Given the description of an element on the screen output the (x, y) to click on. 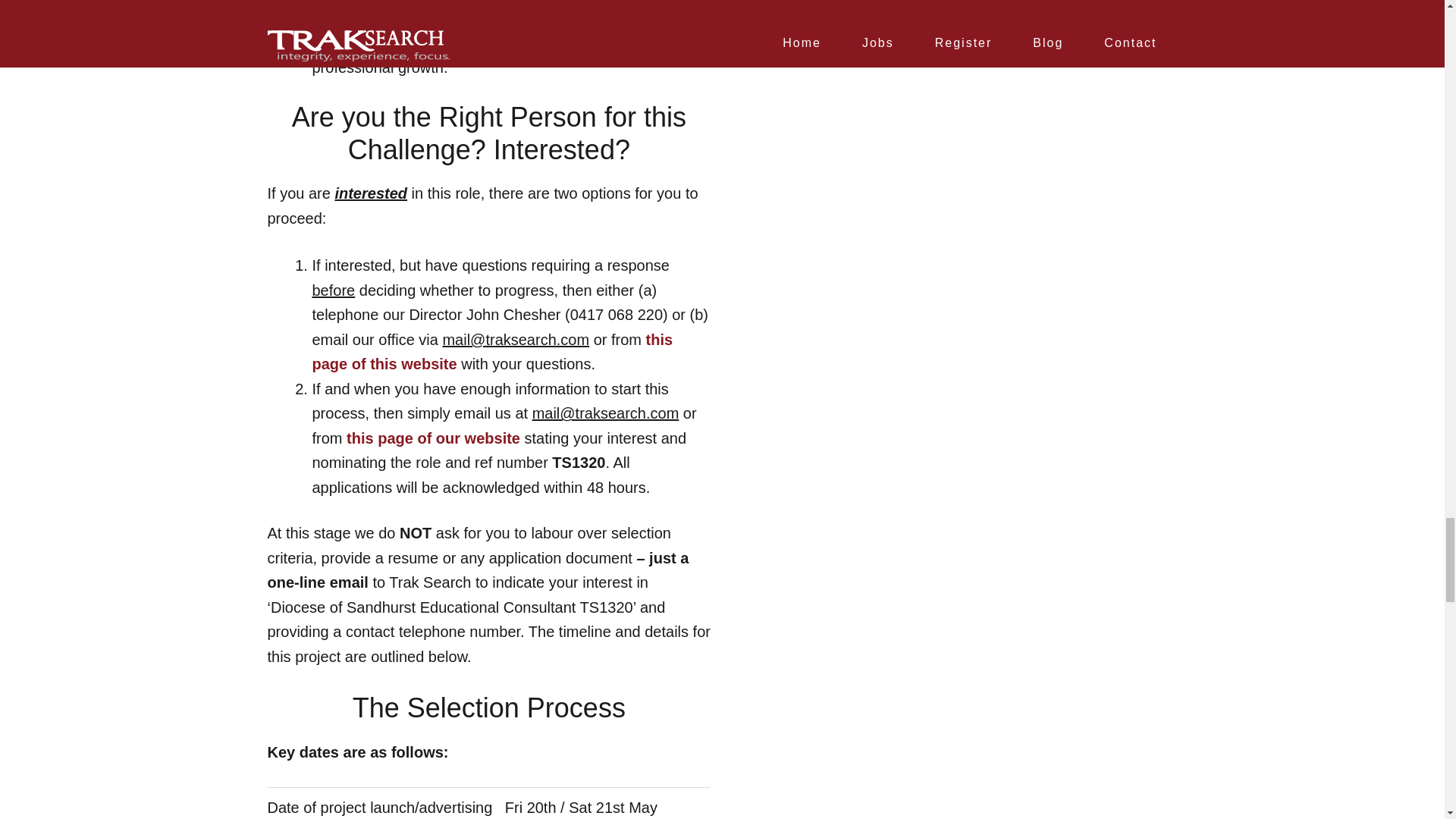
this page of this website (492, 352)
this page of our website (432, 437)
